Given the description of an element on the screen output the (x, y) to click on. 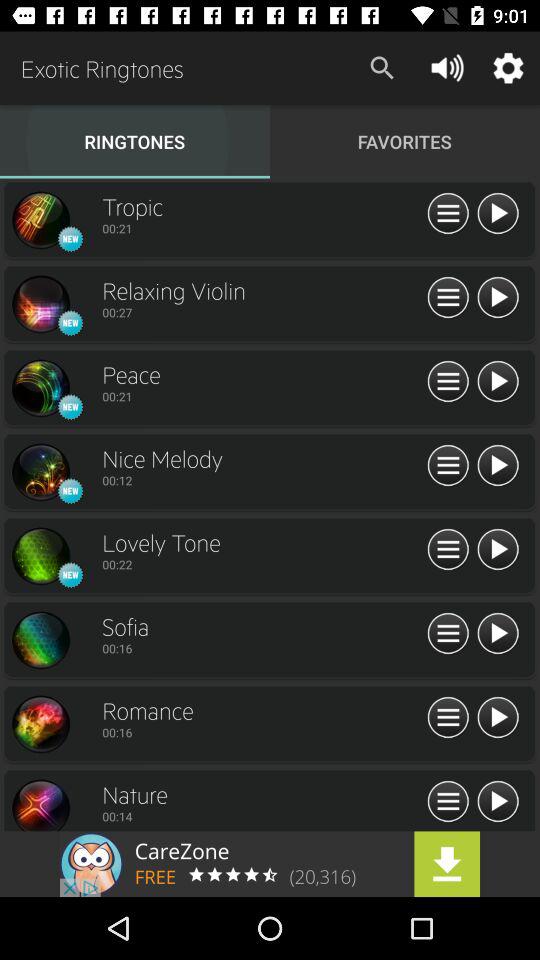
get more information (447, 297)
